Given the description of an element on the screen output the (x, y) to click on. 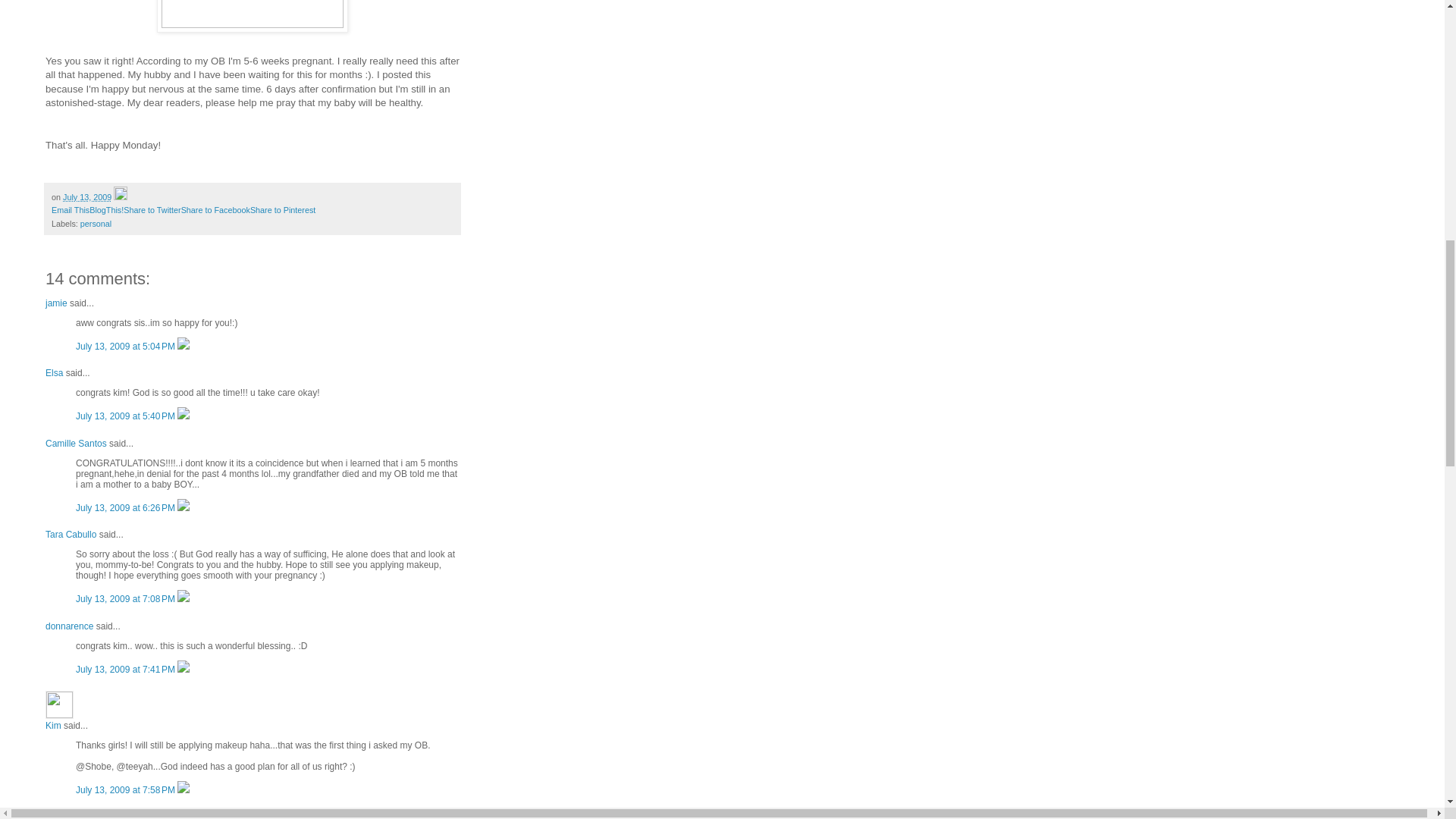
Delete Comment (183, 416)
comment permalink (126, 416)
Share to Facebook (215, 209)
personal (96, 223)
BlogThis! (105, 209)
Elsa (53, 372)
Tara Cabullo (70, 534)
